Given the description of an element on the screen output the (x, y) to click on. 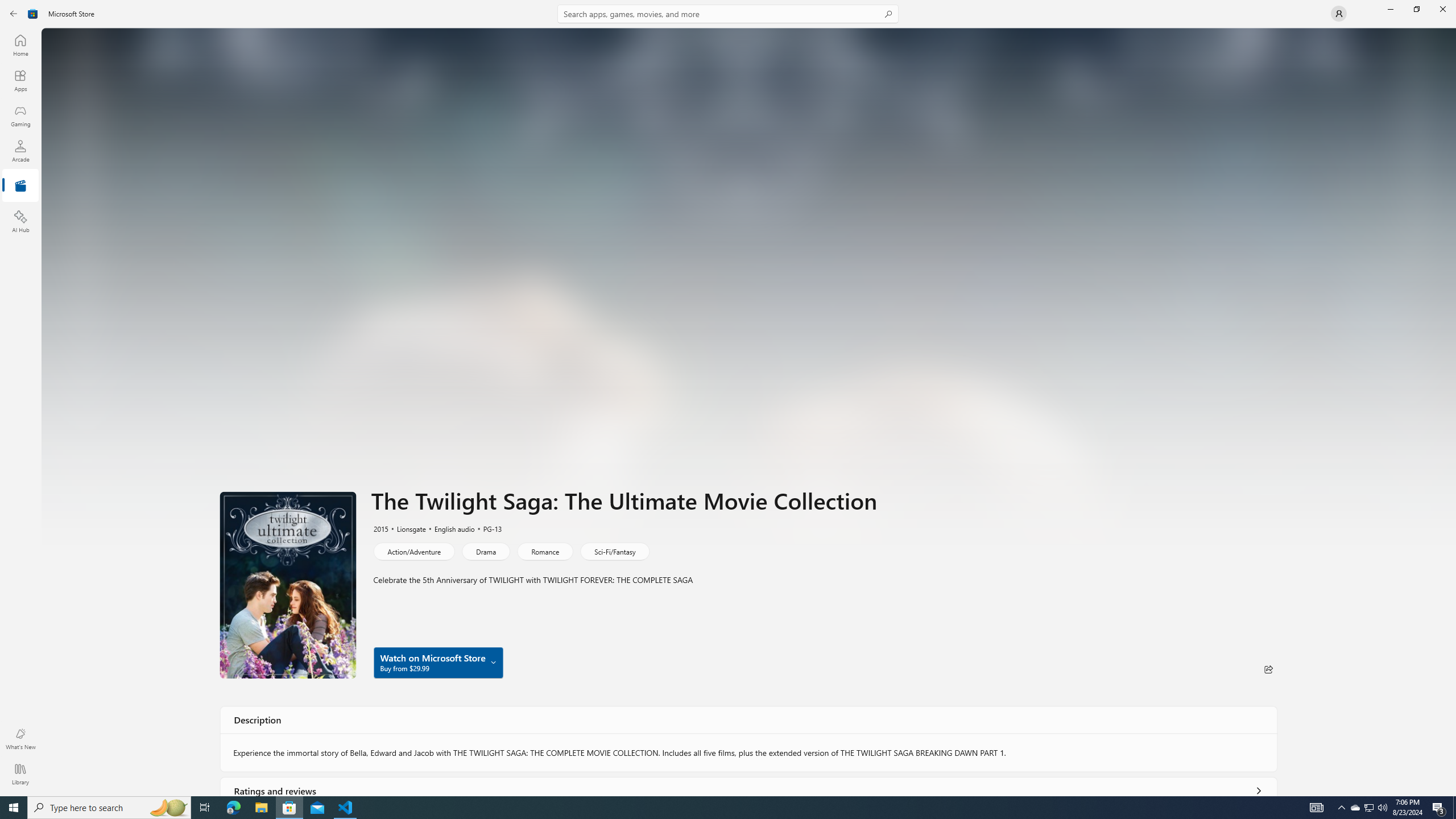
AutomationID: NavigationControl (728, 398)
Drama (485, 551)
Show all ratings and reviews (1258, 788)
Watch on Microsoft Store Buy from $29.99 (437, 662)
PG-13 (487, 528)
Share (1267, 669)
Back (13, 13)
